Given the description of an element on the screen output the (x, y) to click on. 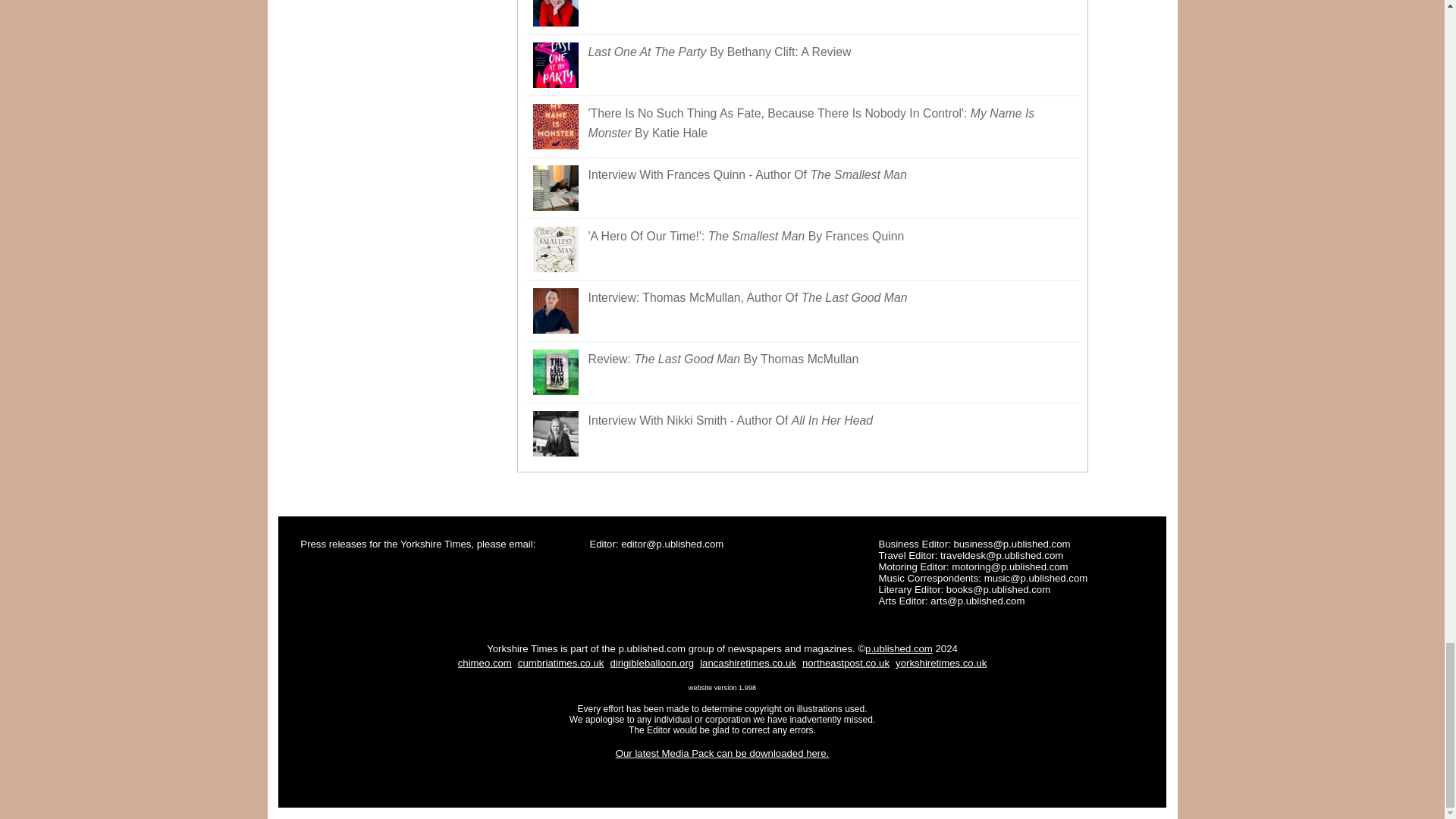
'A Hero Of Our Time!': The Smallest Man By Frances Quinn (801, 249)
Interview With Nikki Smith - Author Of All In Her Head (801, 433)
Last One At The Party By Bethany Clift: A Review (801, 65)
Interview: Thomas McMullan, Author Of The Last Good Man (801, 311)
Interview: Bethany Clift (801, 17)
Review: The Last Good Man By Thomas McMullan (801, 372)
Interview With Frances Quinn - Author Of The Smallest Man (801, 188)
